Given the description of an element on the screen output the (x, y) to click on. 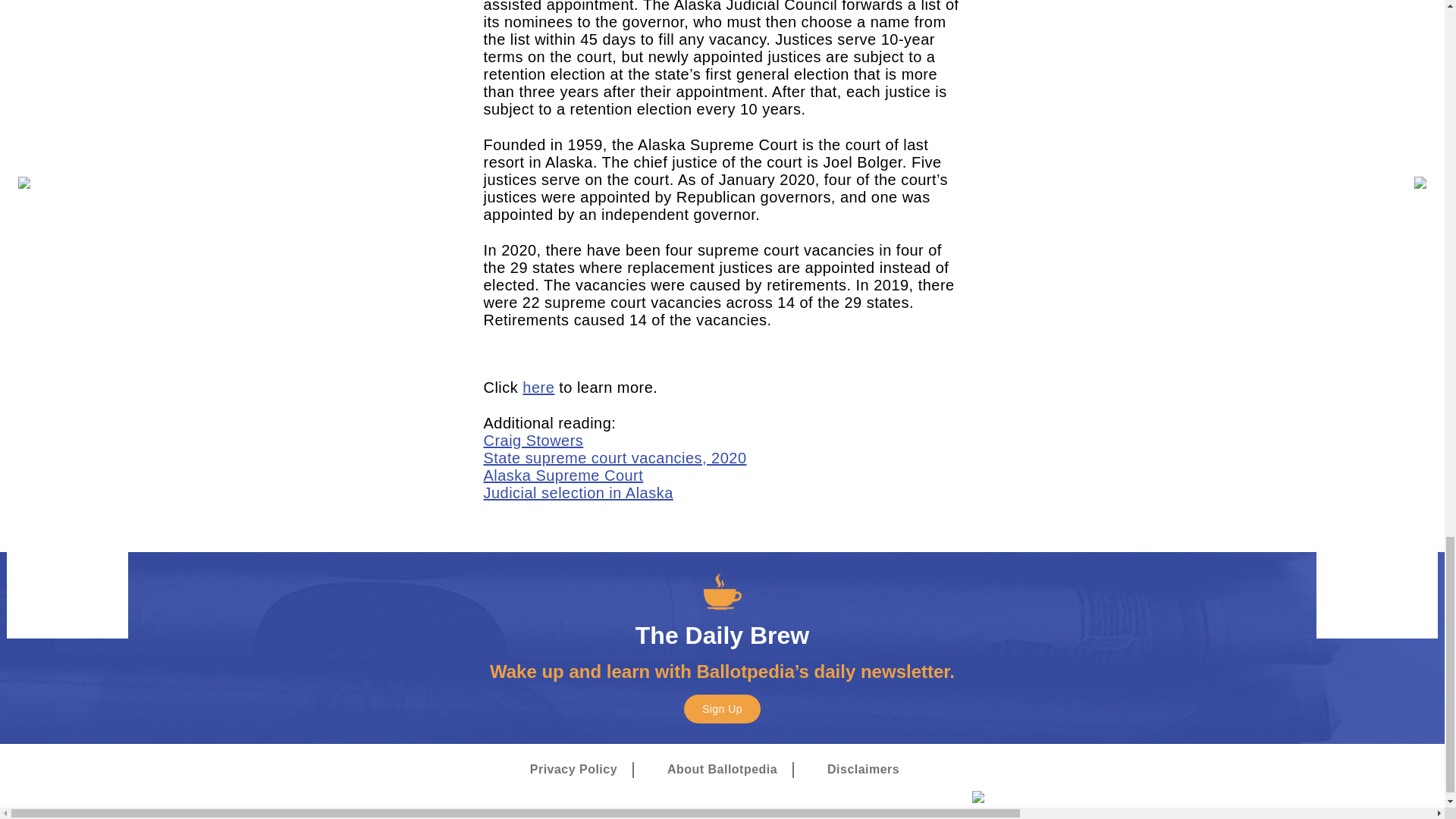
About Ballotpedia (721, 770)
Craig Stowers (533, 440)
Alaska Supreme Court (563, 475)
Disclaimers (863, 770)
State supreme court vacancies, 2020 (614, 457)
Privacy Policy (573, 770)
Sign Up (722, 708)
Judicial selection in Alaska (577, 492)
here (538, 387)
